Given the description of an element on the screen output the (x, y) to click on. 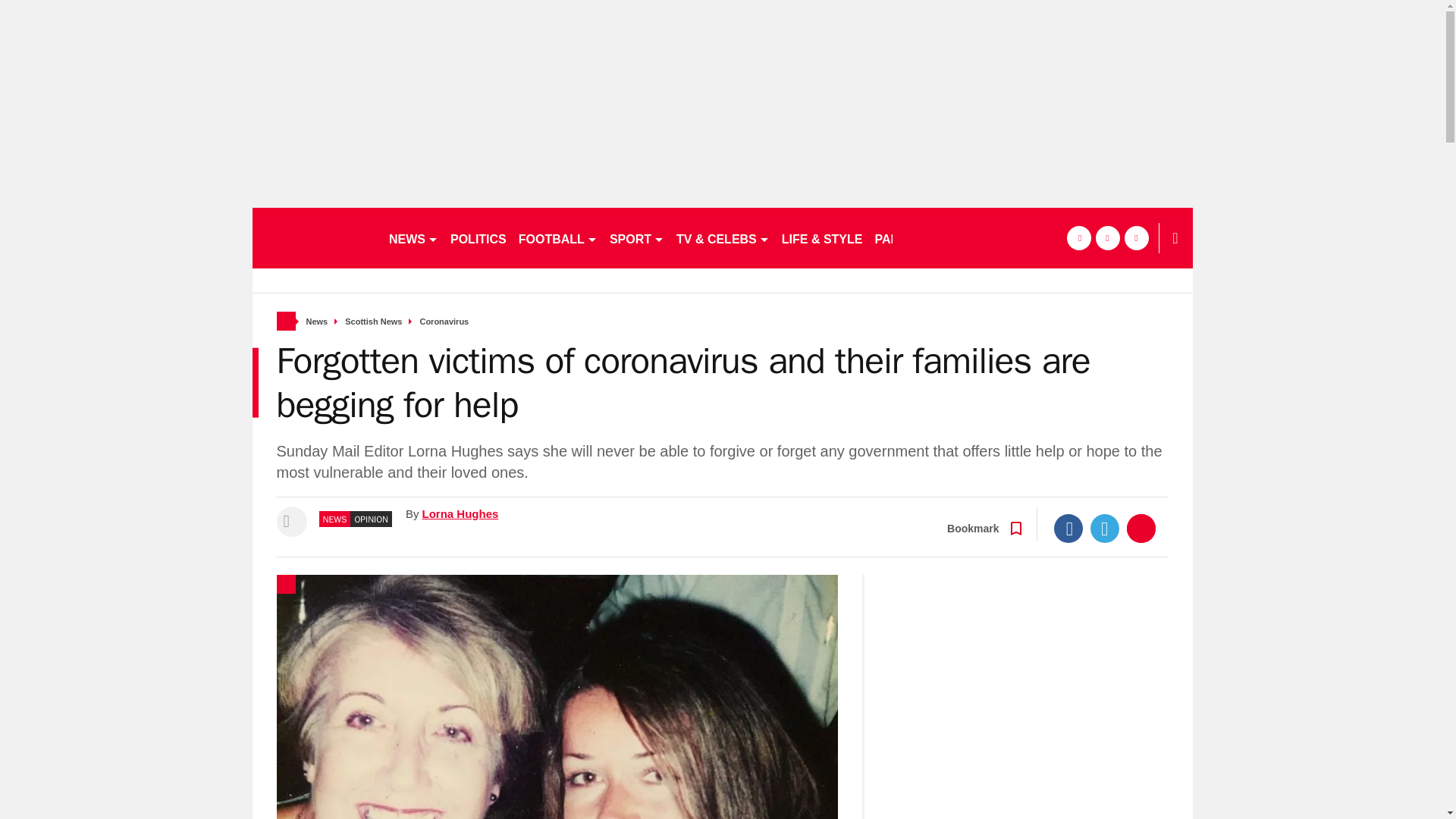
NEWS (413, 238)
facebook (1077, 238)
SPORT (636, 238)
instagram (1136, 238)
Facebook (1068, 528)
dailyrecord (313, 238)
Twitter (1104, 528)
POLITICS (478, 238)
FOOTBALL (558, 238)
twitter (1106, 238)
